Given the description of an element on the screen output the (x, y) to click on. 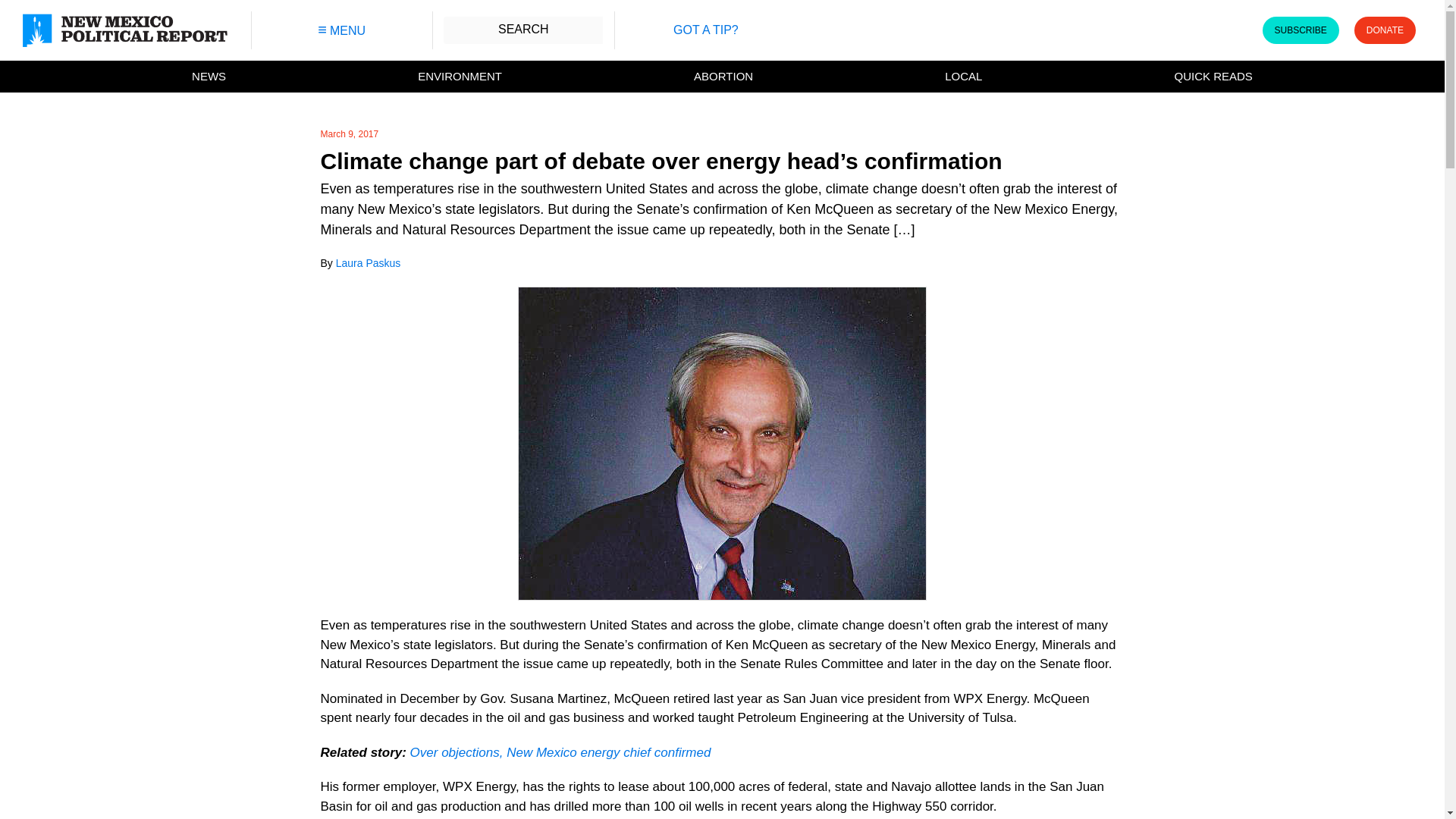
QUICK READS (1213, 76)
ABORTION (723, 76)
GOT A TIP? (705, 29)
DONATE (1384, 30)
SUBSCRIBE (1300, 30)
Over objections, New Mexico energy chief confirmed (560, 752)
ENVIRONMENT (459, 76)
MENU (341, 30)
LOCAL (962, 76)
NEWS (208, 76)
